Given the description of an element on the screen output the (x, y) to click on. 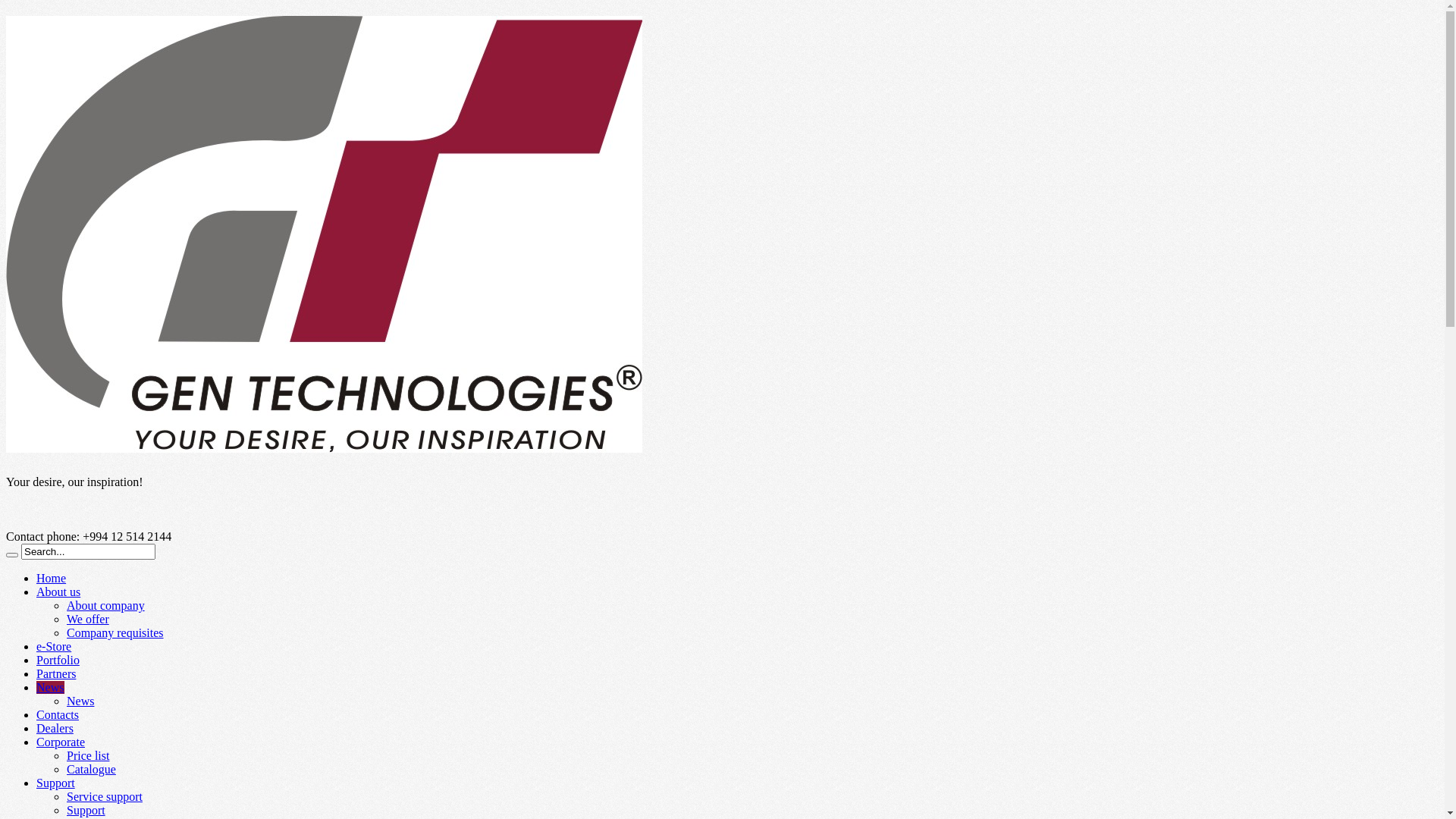
About us Element type: text (58, 591)
News Element type: text (50, 686)
Catalogue Element type: text (91, 768)
Contacts Element type: text (57, 714)
Support Element type: text (55, 782)
Dealers Element type: text (54, 727)
We offer Element type: text (87, 618)
Home Element type: text (50, 577)
Service support Element type: text (104, 796)
Partners Element type: text (55, 673)
News Element type: text (80, 700)
Support Element type: text (85, 809)
Corporate Element type: text (60, 741)
e-Store Element type: text (53, 646)
About company Element type: text (105, 605)
Portfolio Element type: text (57, 659)
Price list Element type: text (87, 755)
Company requisites Element type: text (114, 632)
